Given the description of an element on the screen output the (x, y) to click on. 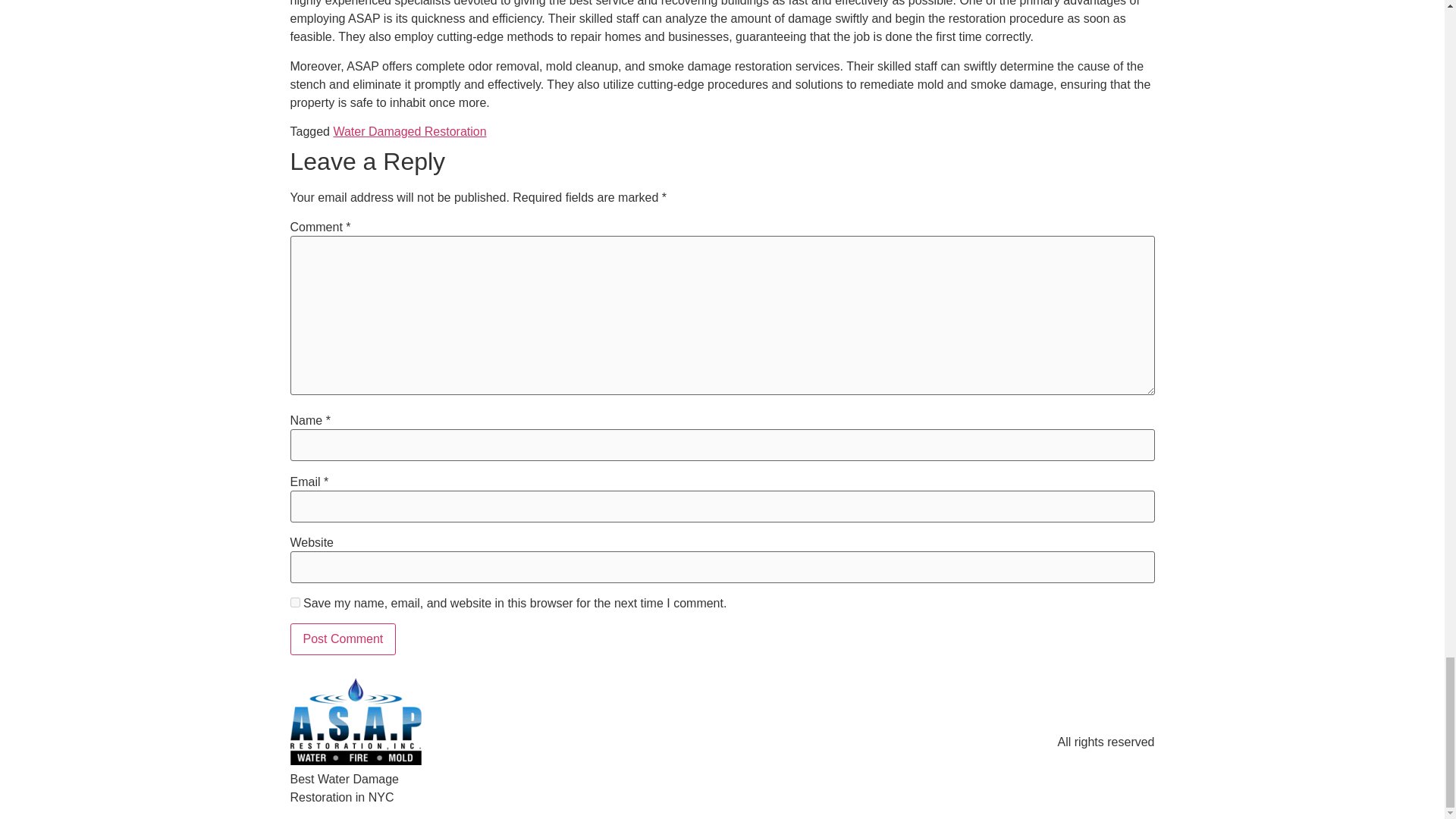
Water Damaged Restoration (409, 131)
yes (294, 602)
Post Comment (342, 639)
Post Comment (342, 639)
